Given the description of an element on the screen output the (x, y) to click on. 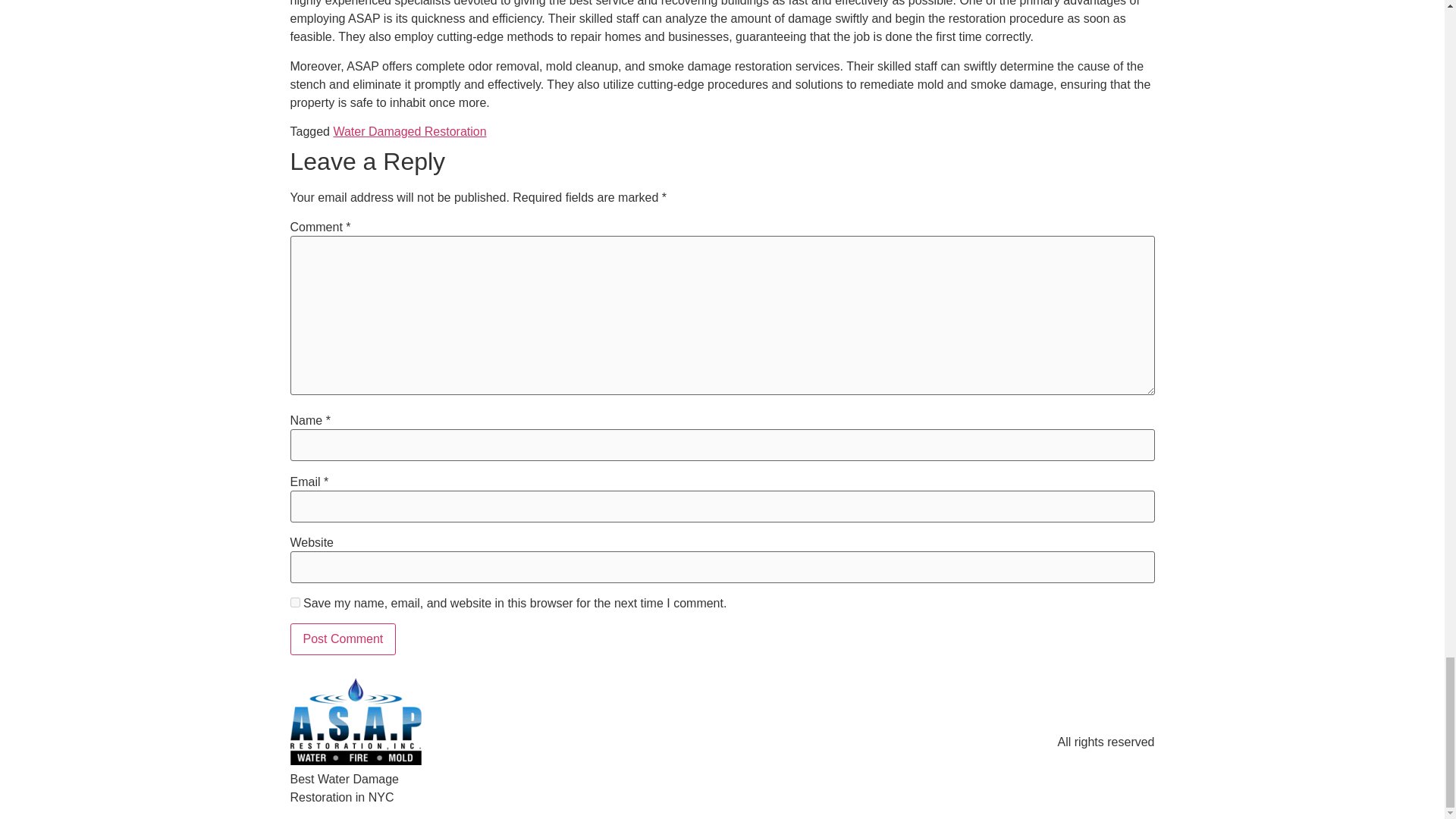
Water Damaged Restoration (409, 131)
yes (294, 602)
Post Comment (342, 639)
Post Comment (342, 639)
